Given the description of an element on the screen output the (x, y) to click on. 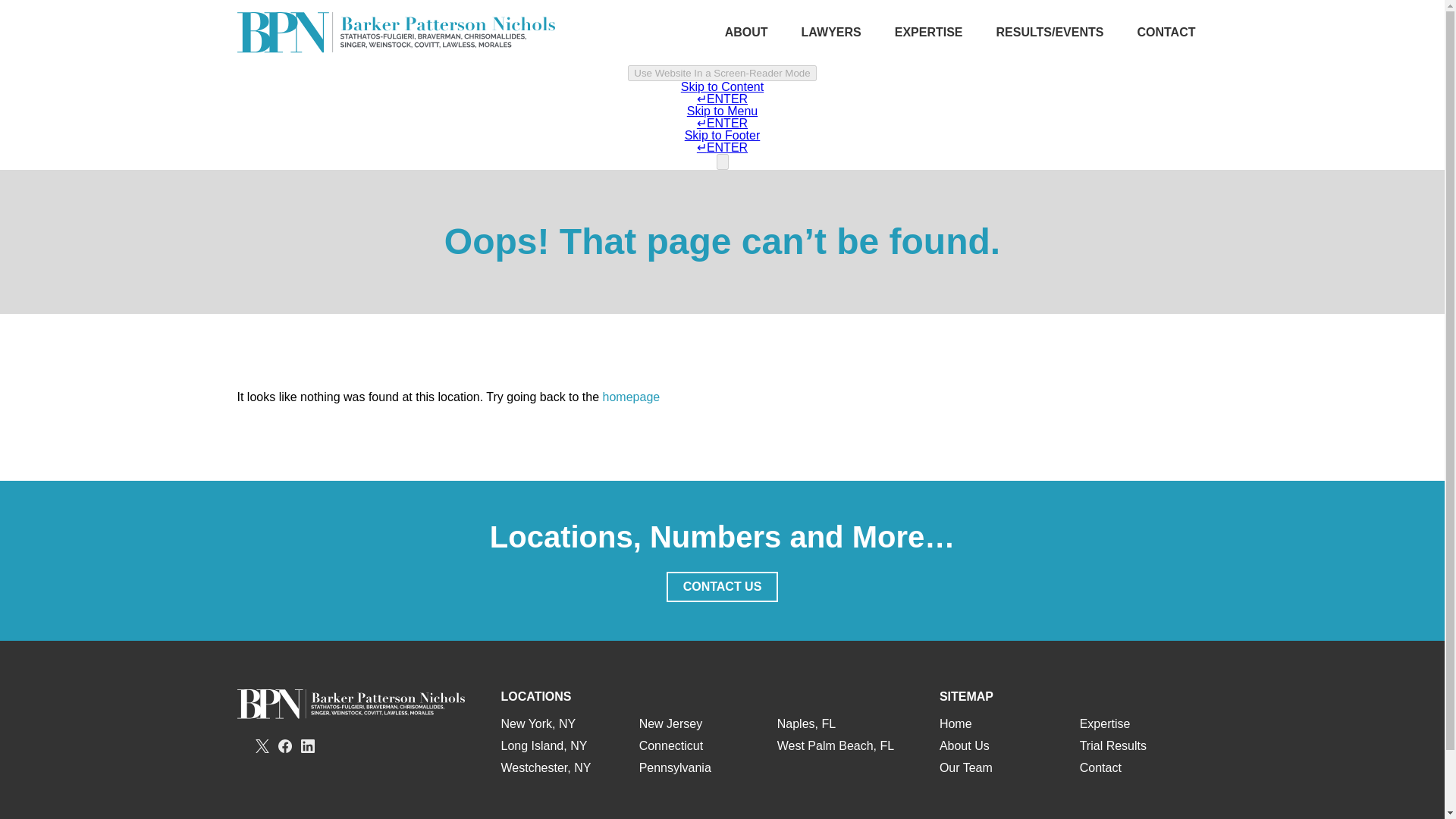
Expertise (1105, 723)
Twitter (260, 745)
LAWYERS (831, 32)
LinkedIn (307, 745)
CONTACT US (722, 586)
EXPERTISE (928, 32)
homepage (631, 396)
Home (955, 723)
Sitemap (790, 818)
Disclaimer (729, 818)
